Given the description of an element on the screen output the (x, y) to click on. 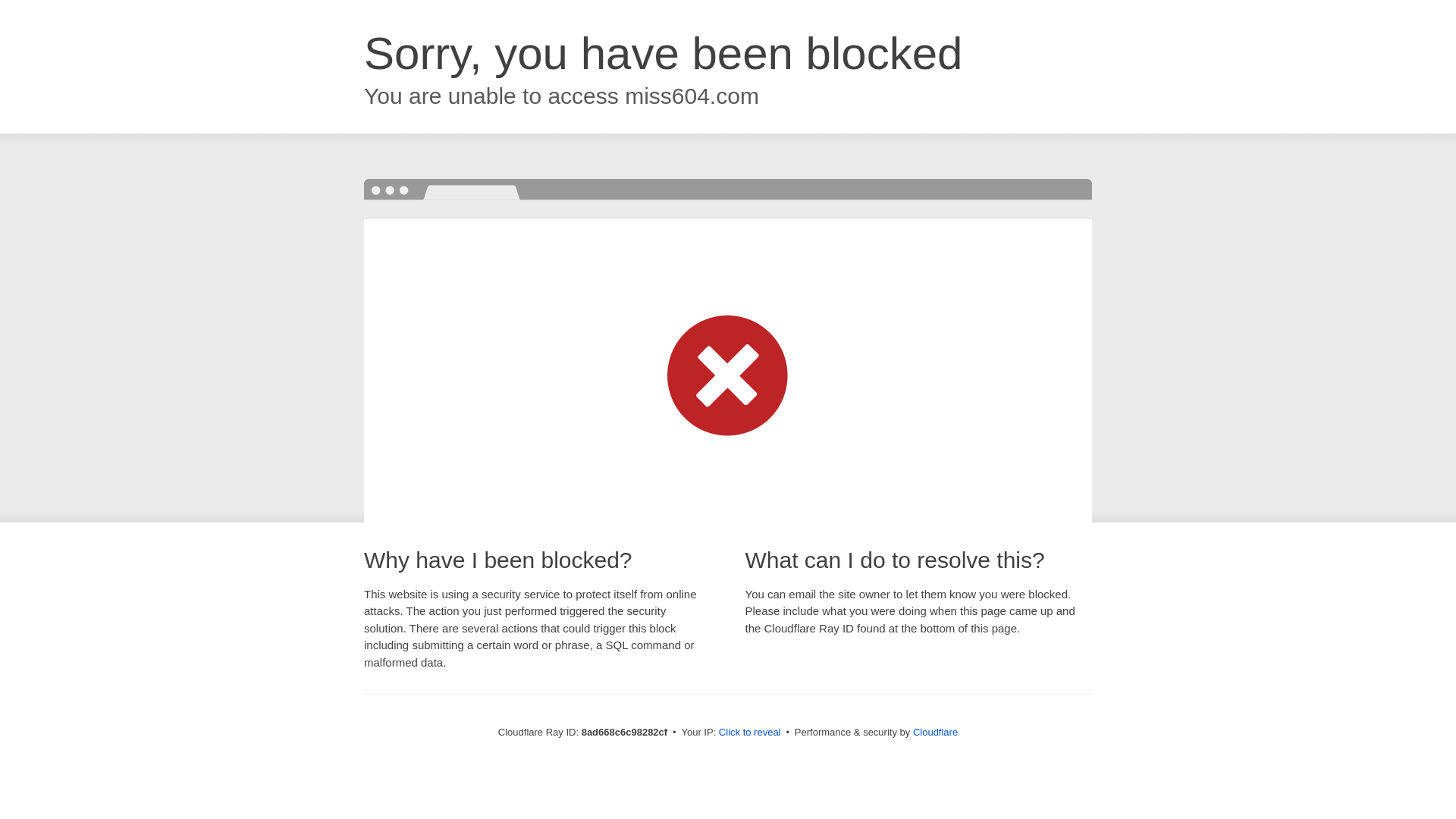
Click to reveal (749, 732)
Cloudflare (935, 731)
